Given the description of an element on the screen output the (x, y) to click on. 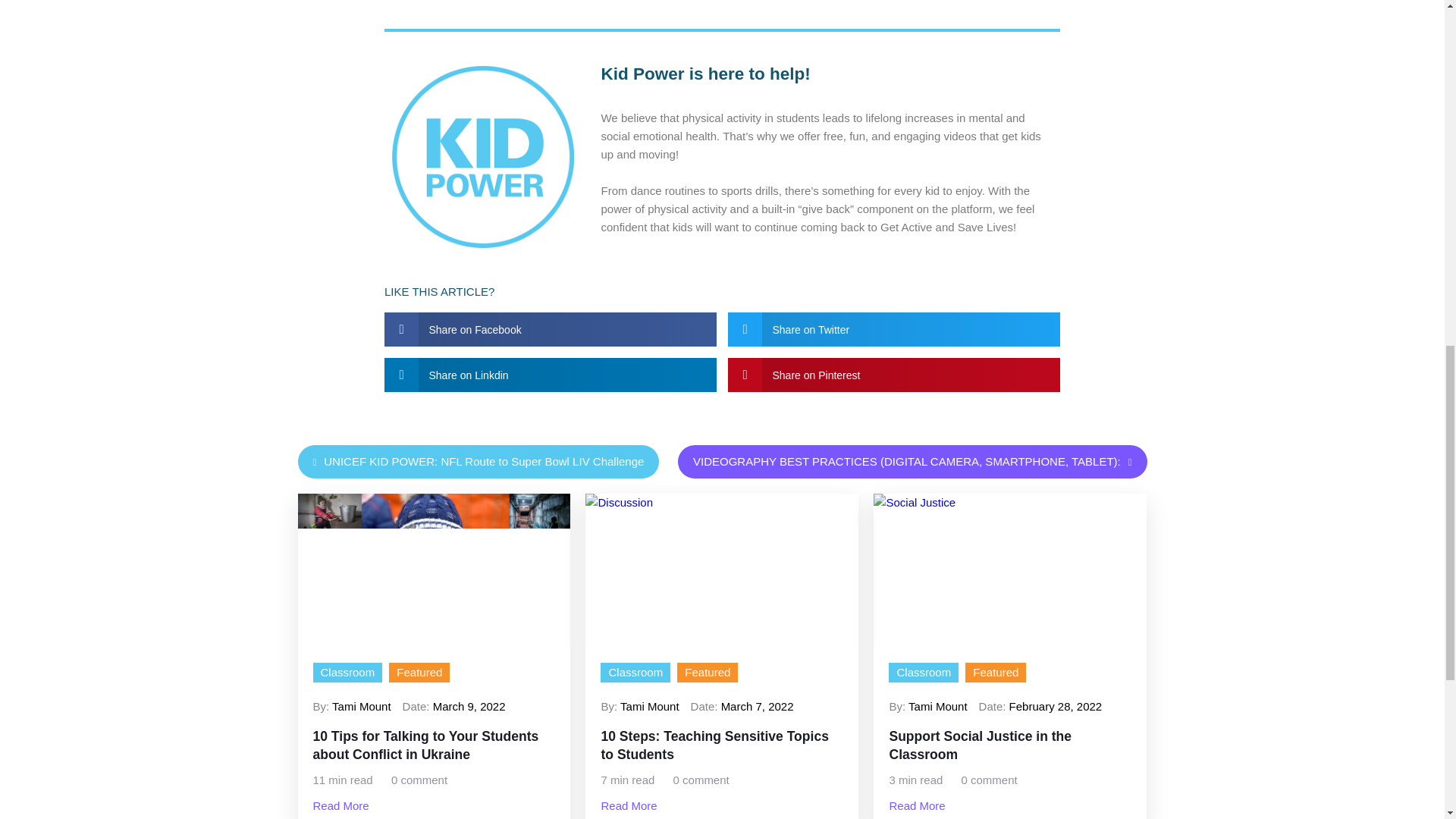
Featured (707, 672)
0 comment (418, 779)
Classroom (923, 672)
0 comment (700, 779)
Tami Mount (649, 706)
10 Steps: Teaching Sensitive Topics to Students (721, 745)
Featured (994, 672)
February 28, 2022 (1055, 706)
Tami Mount (938, 706)
Support Social Justice in the Classroom (1009, 745)
